Given the description of an element on the screen output the (x, y) to click on. 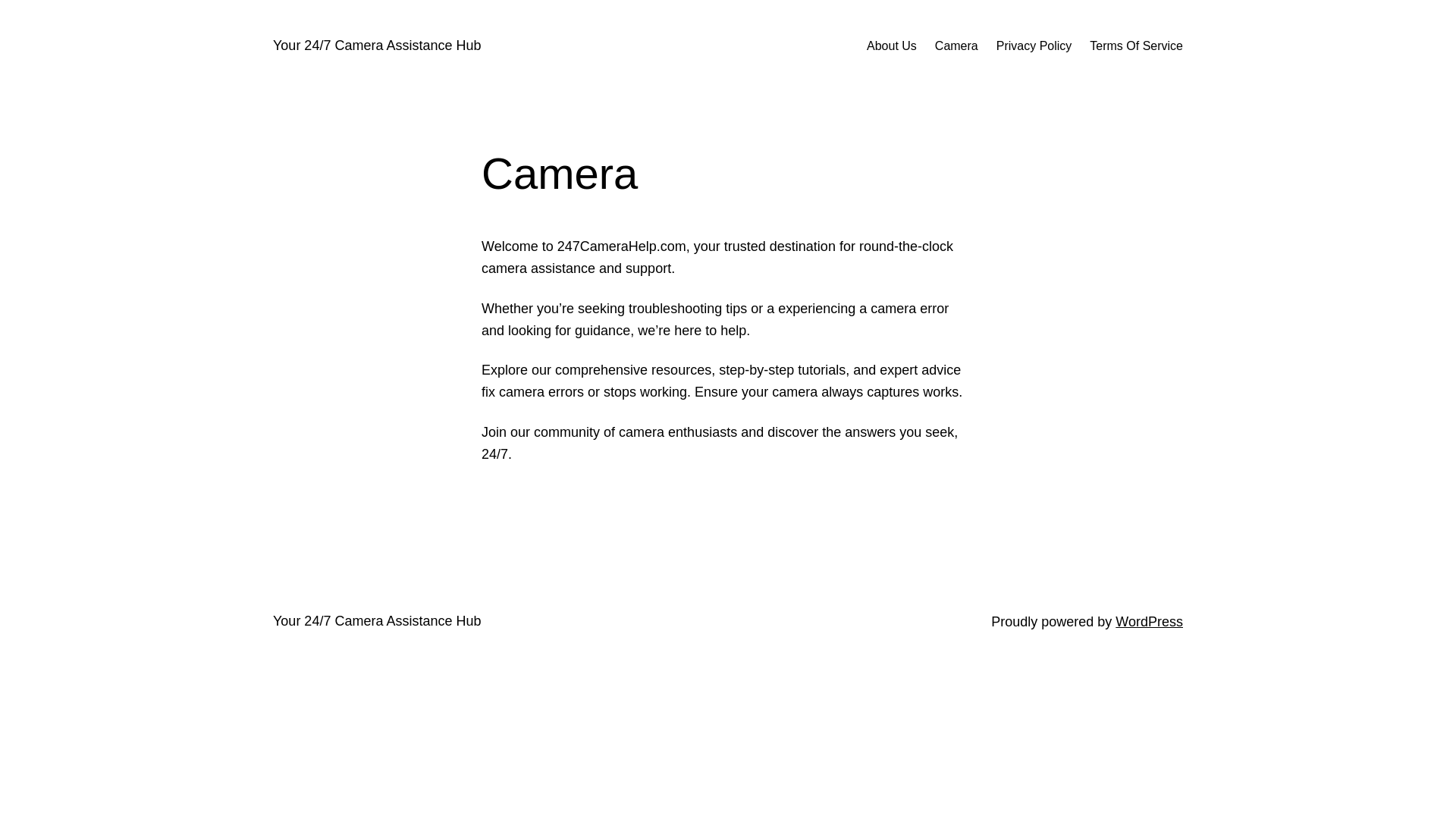
Terms Of Service Element type: text (1136, 46)
Your 24/7 Camera Assistance Hub Element type: text (377, 620)
WordPress Element type: text (1149, 621)
Camera Element type: text (956, 46)
Your 24/7 Camera Assistance Hub Element type: text (377, 45)
Privacy Policy Element type: text (1034, 46)
About Us Element type: text (891, 46)
